Given the description of an element on the screen output the (x, y) to click on. 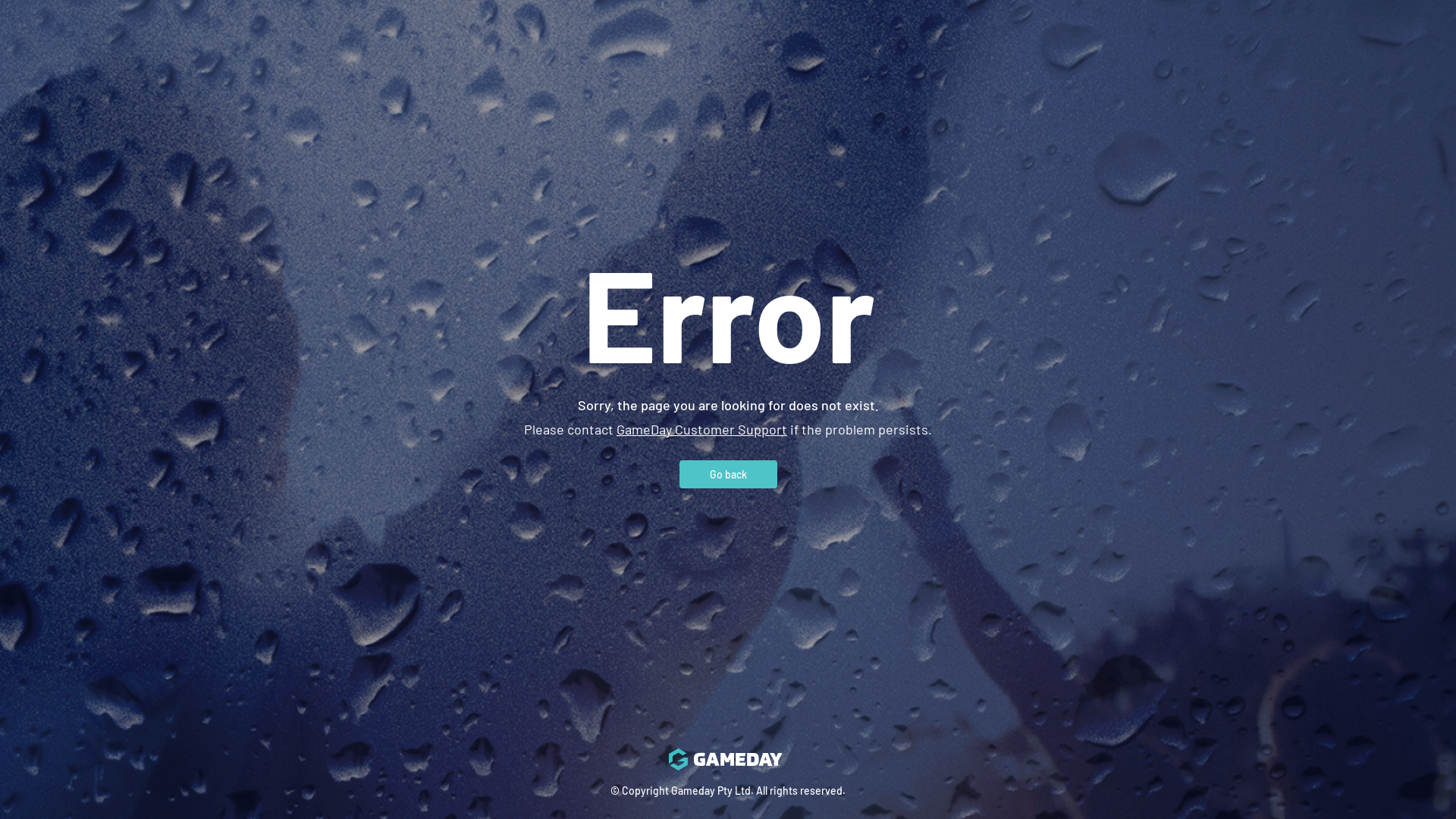
Go back Element type: text (728, 473)
GameDay Customer Support Element type: text (701, 428)
